Given the description of an element on the screen output the (x, y) to click on. 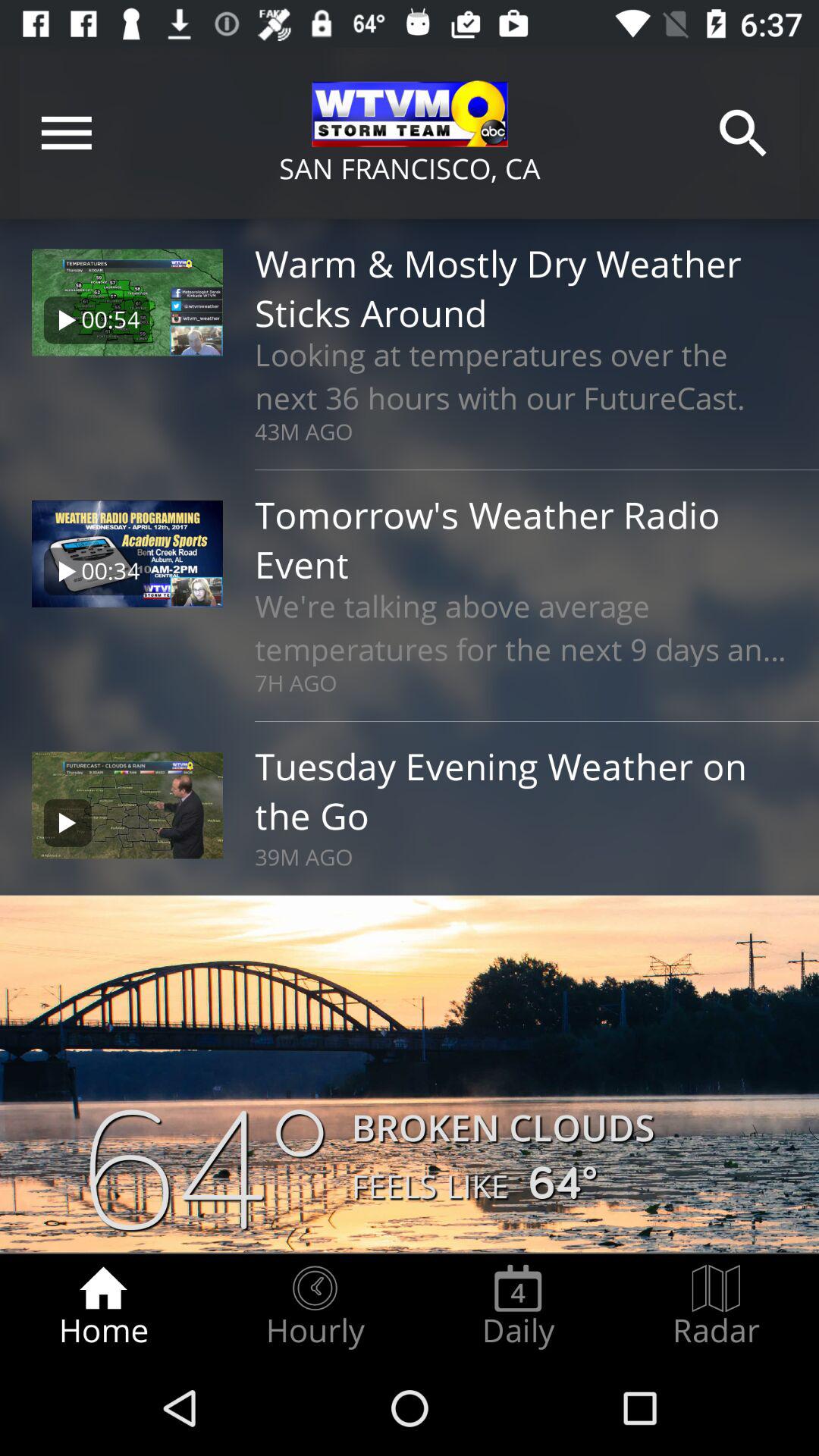
open the item next to the hourly item (103, 1307)
